Given the description of an element on the screen output the (x, y) to click on. 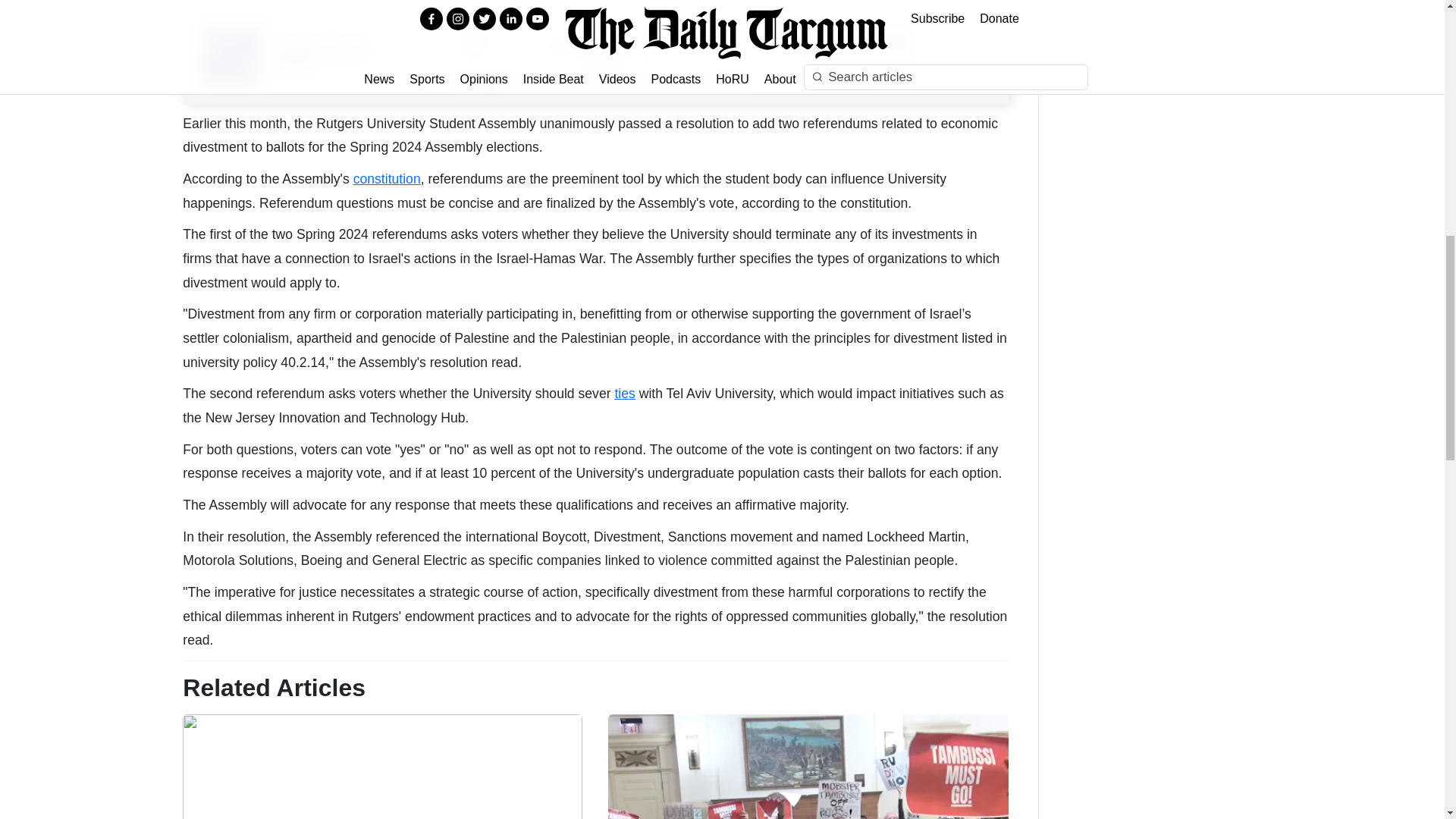
1x (473, 42)
70 (878, 42)
1 (601, 83)
